Given the description of an element on the screen output the (x, y) to click on. 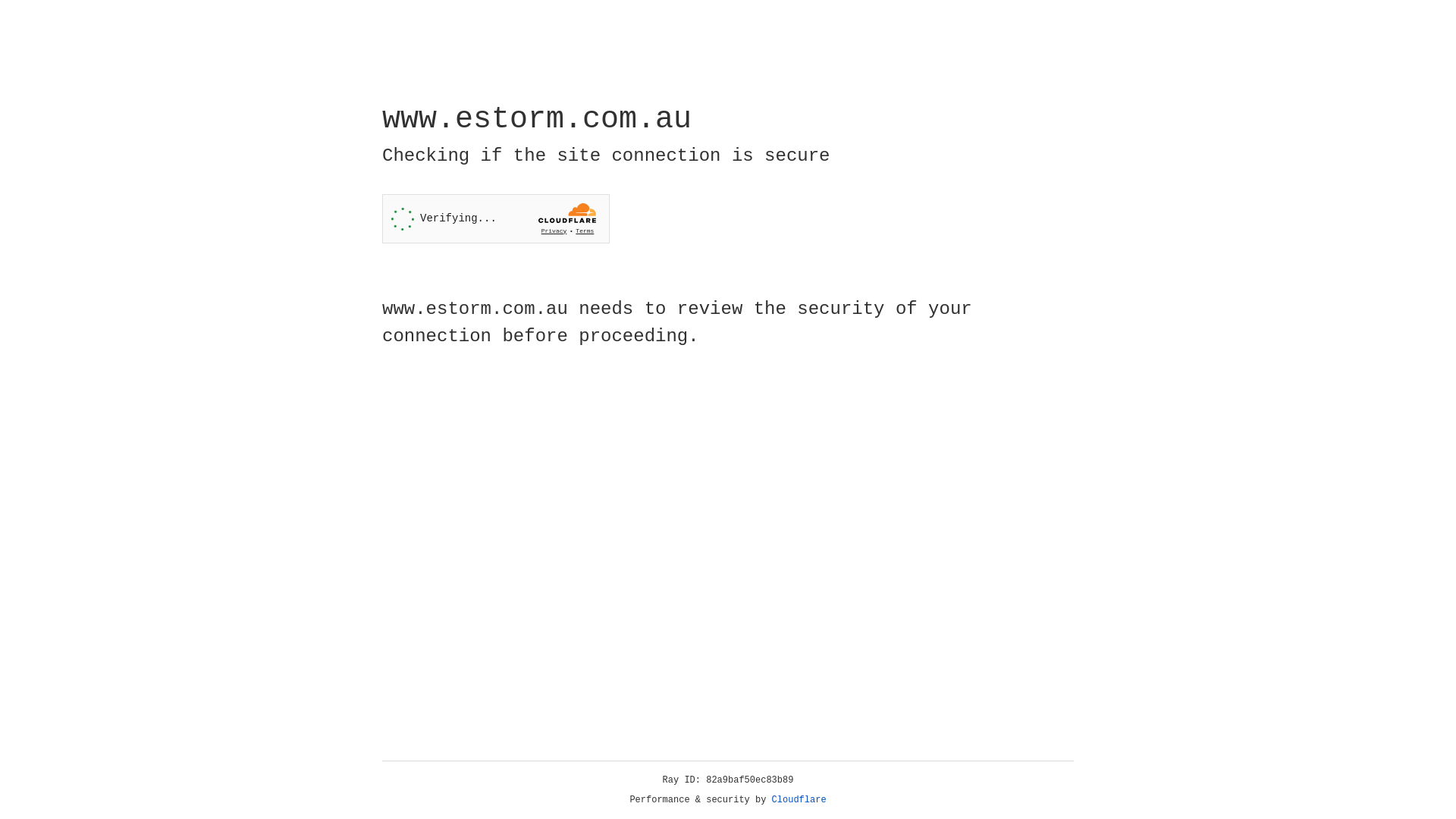
Widget containing a Cloudflare security challenge Element type: hover (495, 218)
Cloudflare Element type: text (798, 799)
